Given the description of an element on the screen output the (x, y) to click on. 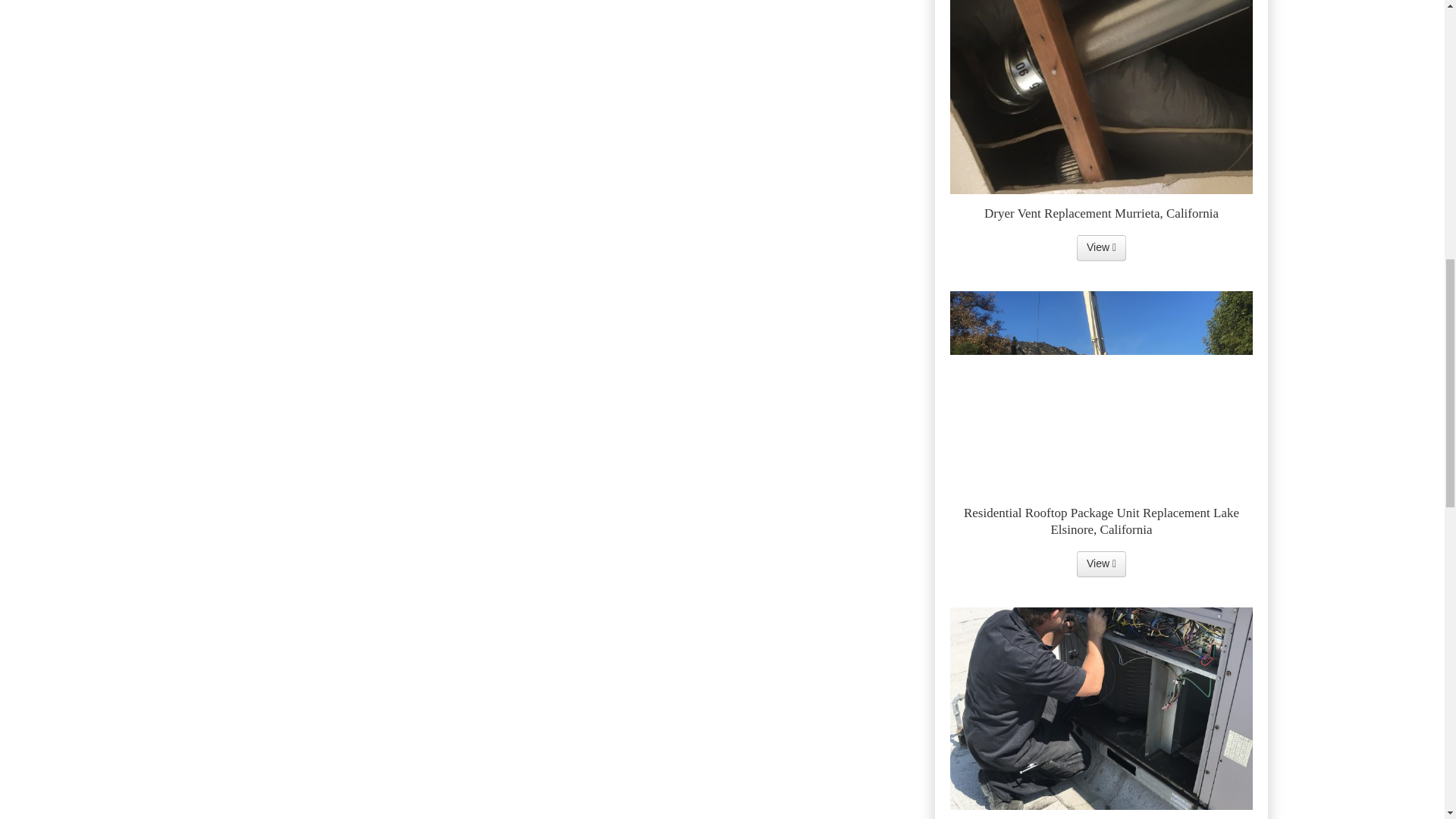
View (1101, 564)
View (1101, 248)
Dryer Vent Replacement Murrieta, California (1101, 248)
